Given the description of an element on the screen output the (x, y) to click on. 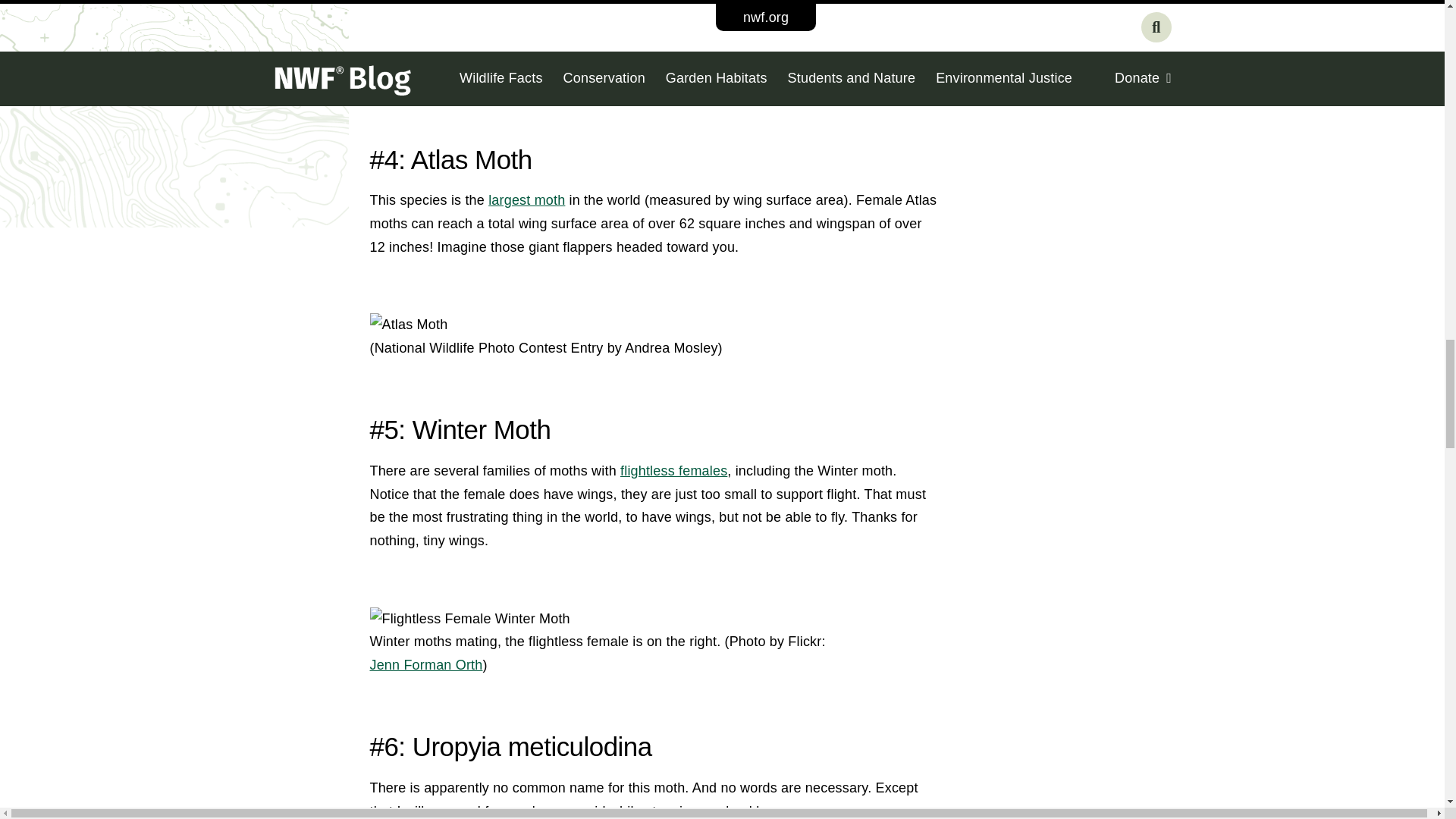
largest moth (525, 200)
Jenn Forman Orth (426, 664)
flightless females (673, 470)
